Given the description of an element on the screen output the (x, y) to click on. 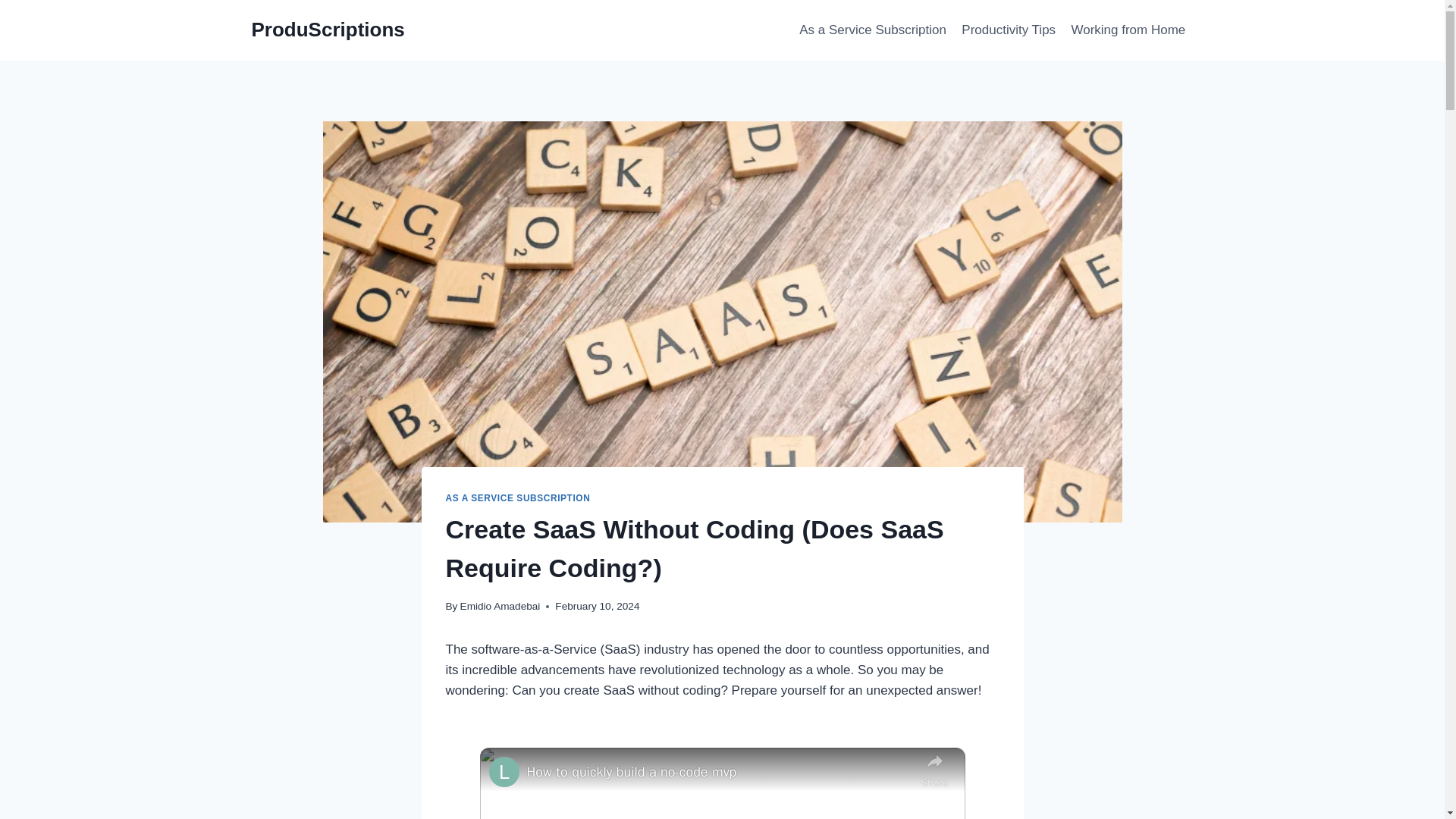
How to quickly build a no-code mvp (718, 771)
ProduScriptions (327, 29)
AS A SERVICE SUBSCRIPTION (518, 498)
Emidio Amadebai (500, 605)
As a Service Subscription (872, 30)
Working from Home (1127, 30)
Productivity Tips (1007, 30)
